Given the description of an element on the screen output the (x, y) to click on. 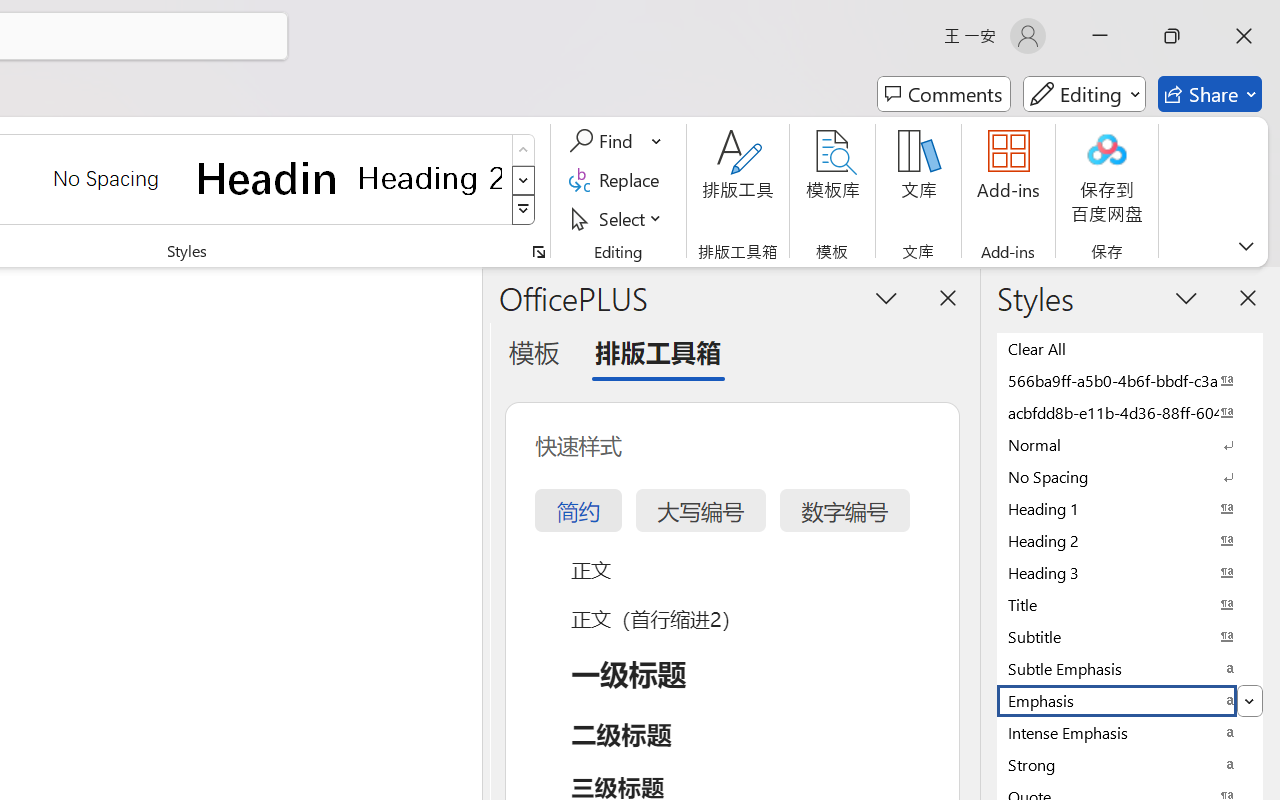
Ribbon Display Options (1246, 245)
No Spacing (1130, 476)
Heading 2 (429, 178)
Share (1210, 94)
Intense Emphasis (1130, 732)
Heading 3 (1130, 572)
Emphasis (1130, 700)
Replace... (617, 179)
